Given the description of an element on the screen output the (x, y) to click on. 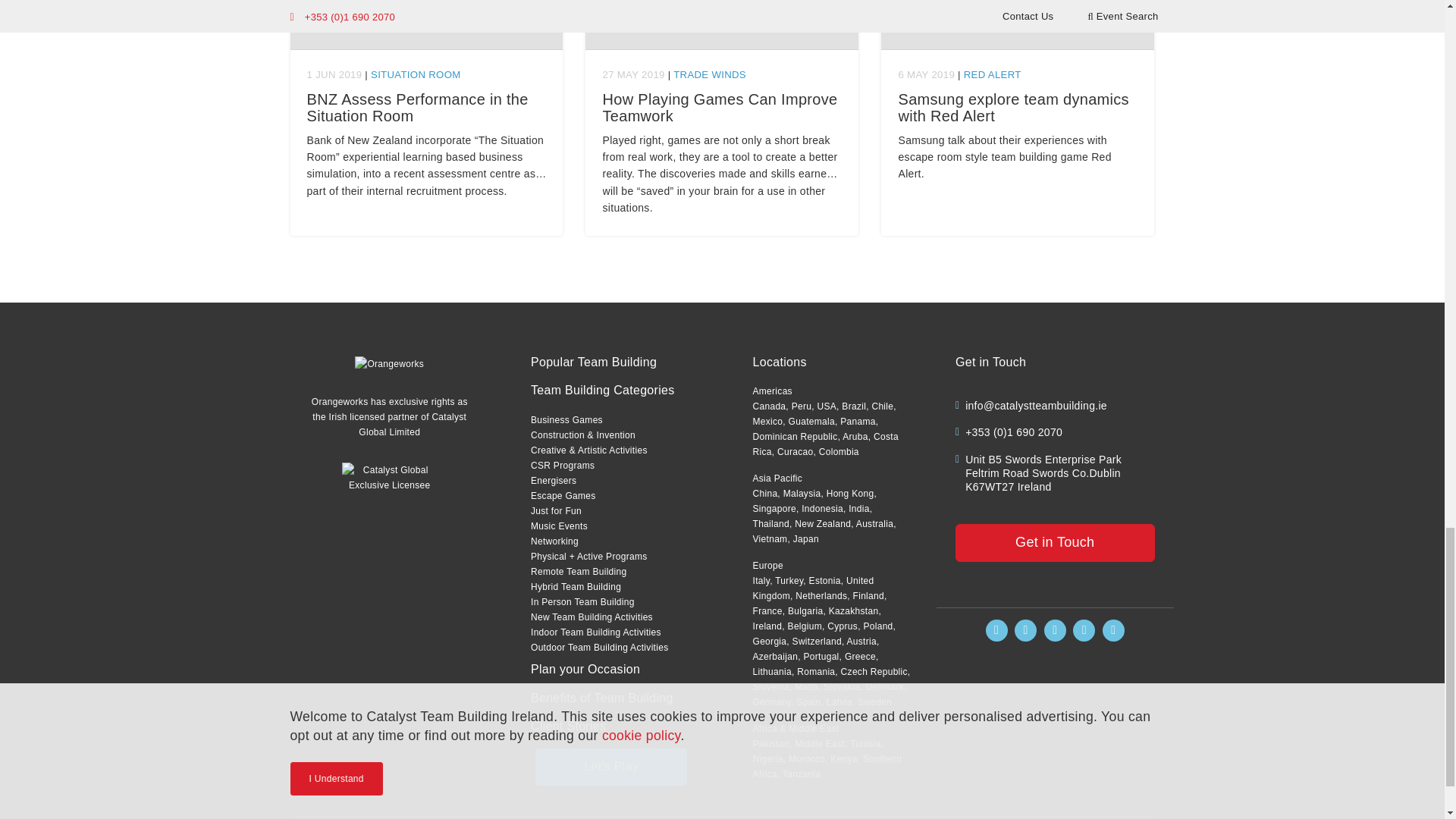
Just for Fun (555, 511)
Follow us on Twitter (1083, 630)
Business Games (566, 419)
Networking (554, 541)
Find us on Linkedin (1054, 630)
Energisers (553, 480)
Watch us on Youtube (1113, 630)
CSR Programs (562, 465)
Team Building Categories (603, 390)
Follow us on Instagram (1025, 630)
Escape Games (563, 495)
Find us on Facebook (996, 630)
Music Events (559, 525)
Popular Team Building (593, 361)
